Given the description of an element on the screen output the (x, y) to click on. 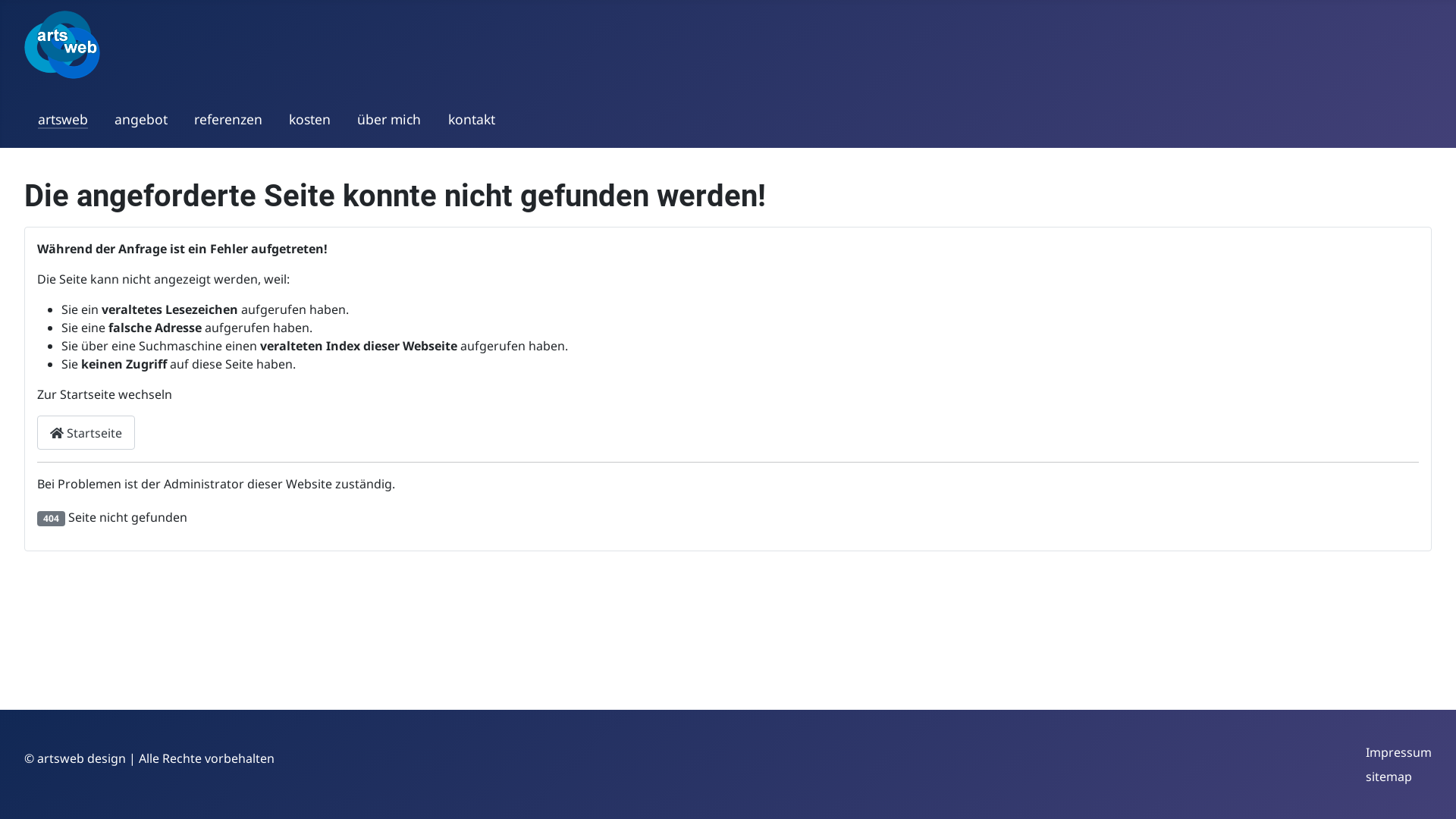
kontakt Element type: text (471, 118)
referenzen Element type: text (228, 118)
sitemap Element type: text (1388, 776)
Startseite Element type: text (85, 432)
angebot Element type: text (140, 118)
artsweb Element type: text (62, 118)
kosten Element type: text (309, 118)
Impressum Element type: text (1398, 751)
